Given the description of an element on the screen output the (x, y) to click on. 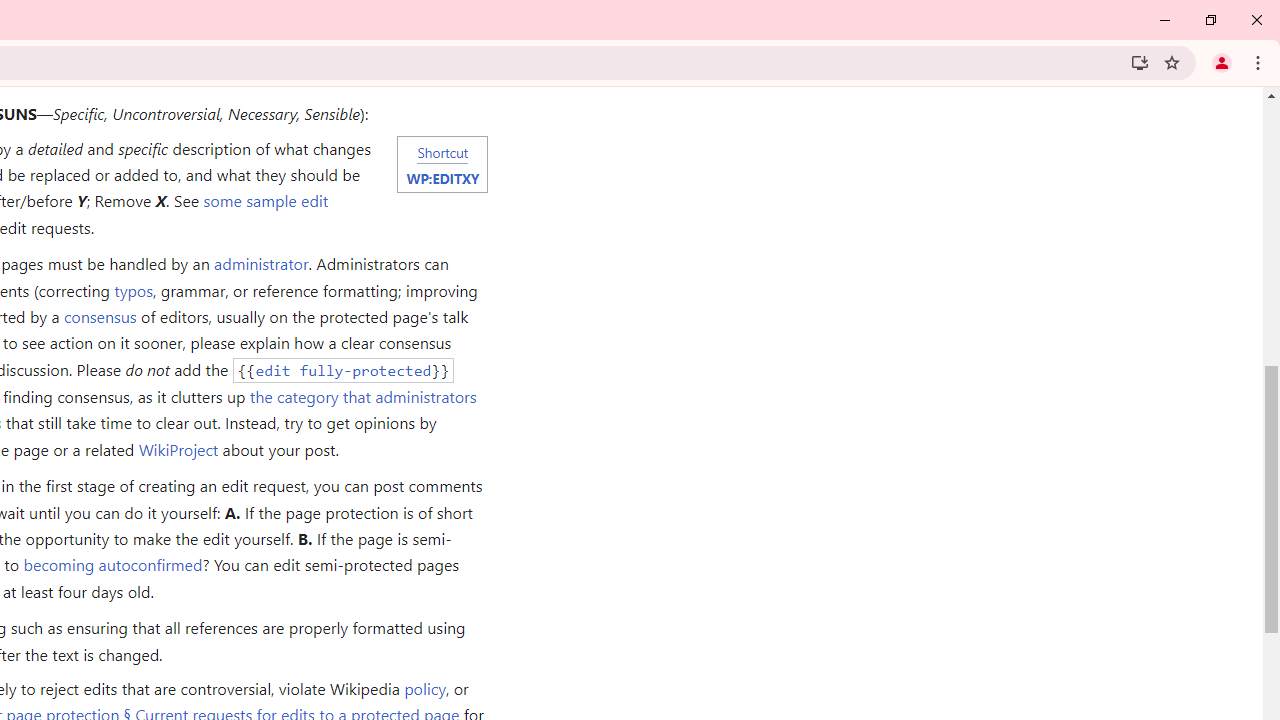
WikiProject (178, 448)
